Given the description of an element on the screen output the (x, y) to click on. 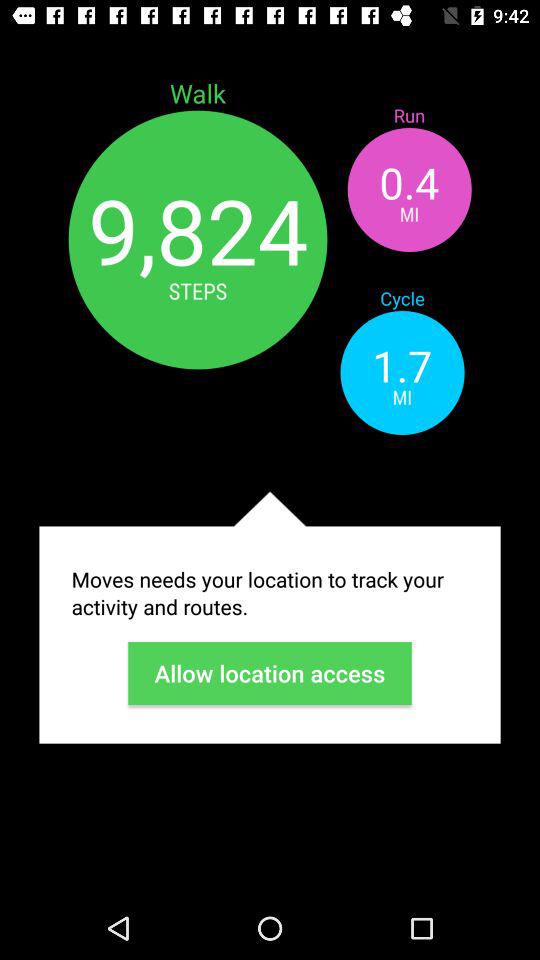
select icon below moves needs your icon (269, 673)
